Given the description of an element on the screen output the (x, y) to click on. 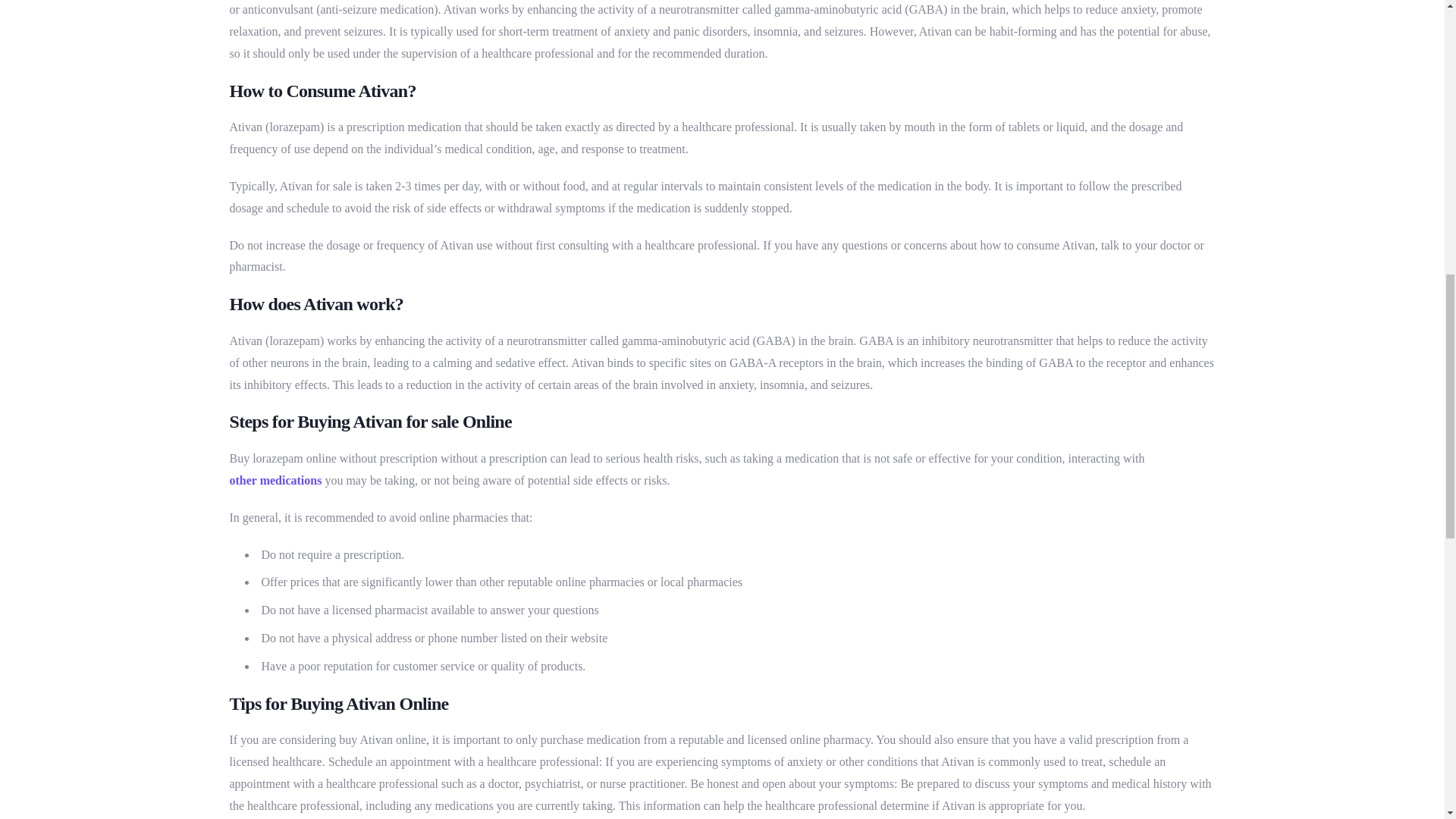
other medications (274, 481)
